Given the description of an element on the screen output the (x, y) to click on. 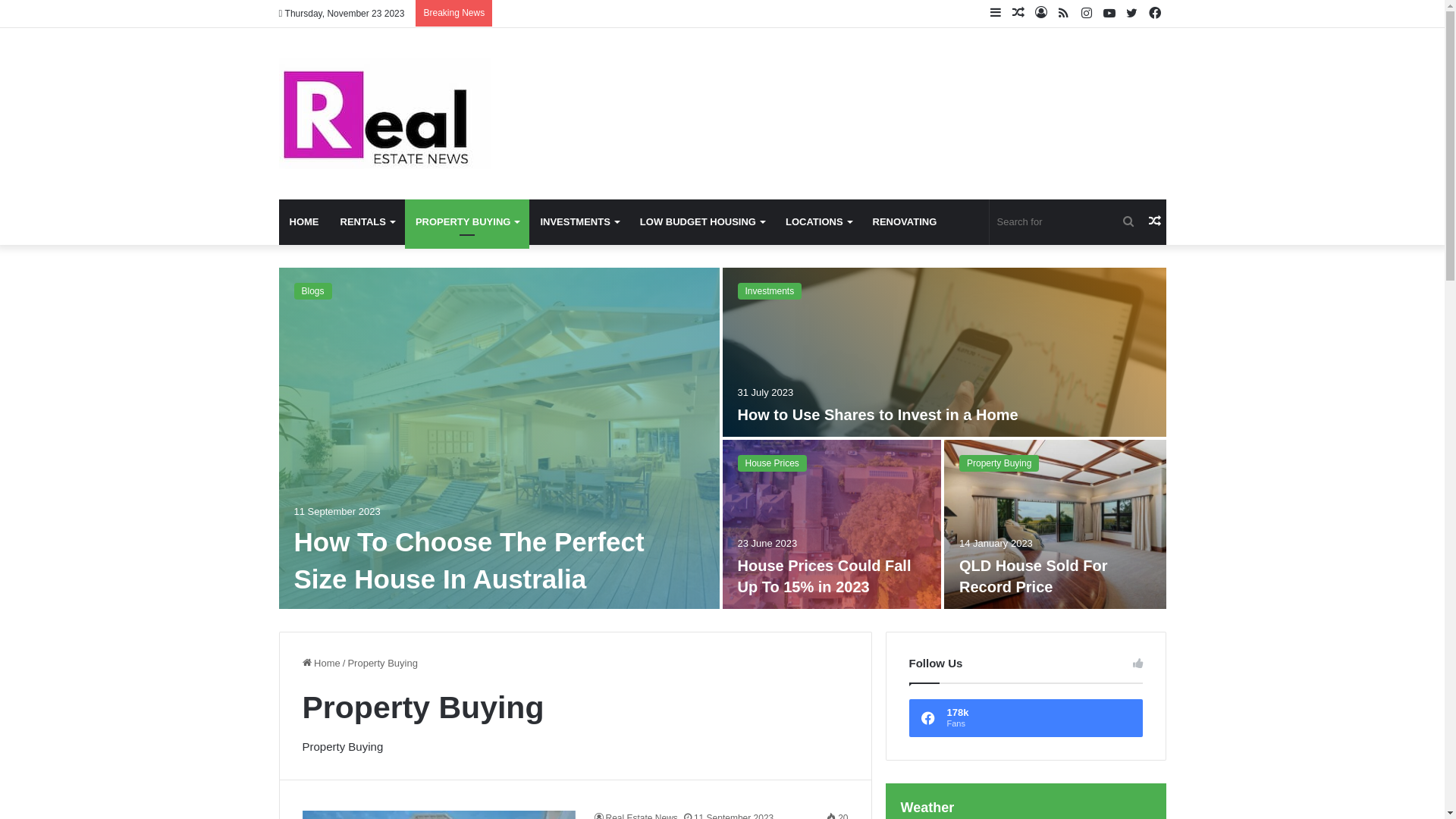
How to Use Shares to Invest in a Home Element type: text (877, 414)
HOME Element type: text (304, 221)
Random Article Element type: text (1018, 13)
QLD House Sold For Record Price Element type: text (1033, 576)
Facebook Element type: text (1154, 13)
Property Buying Element type: text (998, 463)
Real Estate News & Advice Element type: hover (385, 113)
Investments Element type: text (769, 290)
How To Choose The Perfect Size House In Australia Element type: text (469, 560)
PROPERTY BUYING Element type: text (466, 221)
Sidebar Element type: text (995, 13)
178k
Fans Element type: text (1025, 718)
Instagram Element type: text (1086, 13)
LOCATIONS Element type: text (818, 221)
X Element type: text (1131, 13)
YouTube Element type: text (1109, 13)
Home Element type: text (320, 662)
Blogs Element type: text (313, 290)
INVESTMENTS Element type: text (578, 221)
House Prices Could Fall Up To 15% in 2023 Element type: text (823, 576)
Search for Element type: hover (1065, 221)
Random Article Element type: text (1154, 221)
Search for Element type: text (1128, 221)
LOW BUDGET HOUSING Element type: text (702, 221)
RENOVATING Element type: text (904, 221)
RSS Element type: text (1063, 13)
RENTALS Element type: text (366, 221)
House Prices Element type: text (771, 463)
Log In Element type: text (1040, 13)
